Given the description of an element on the screen output the (x, y) to click on. 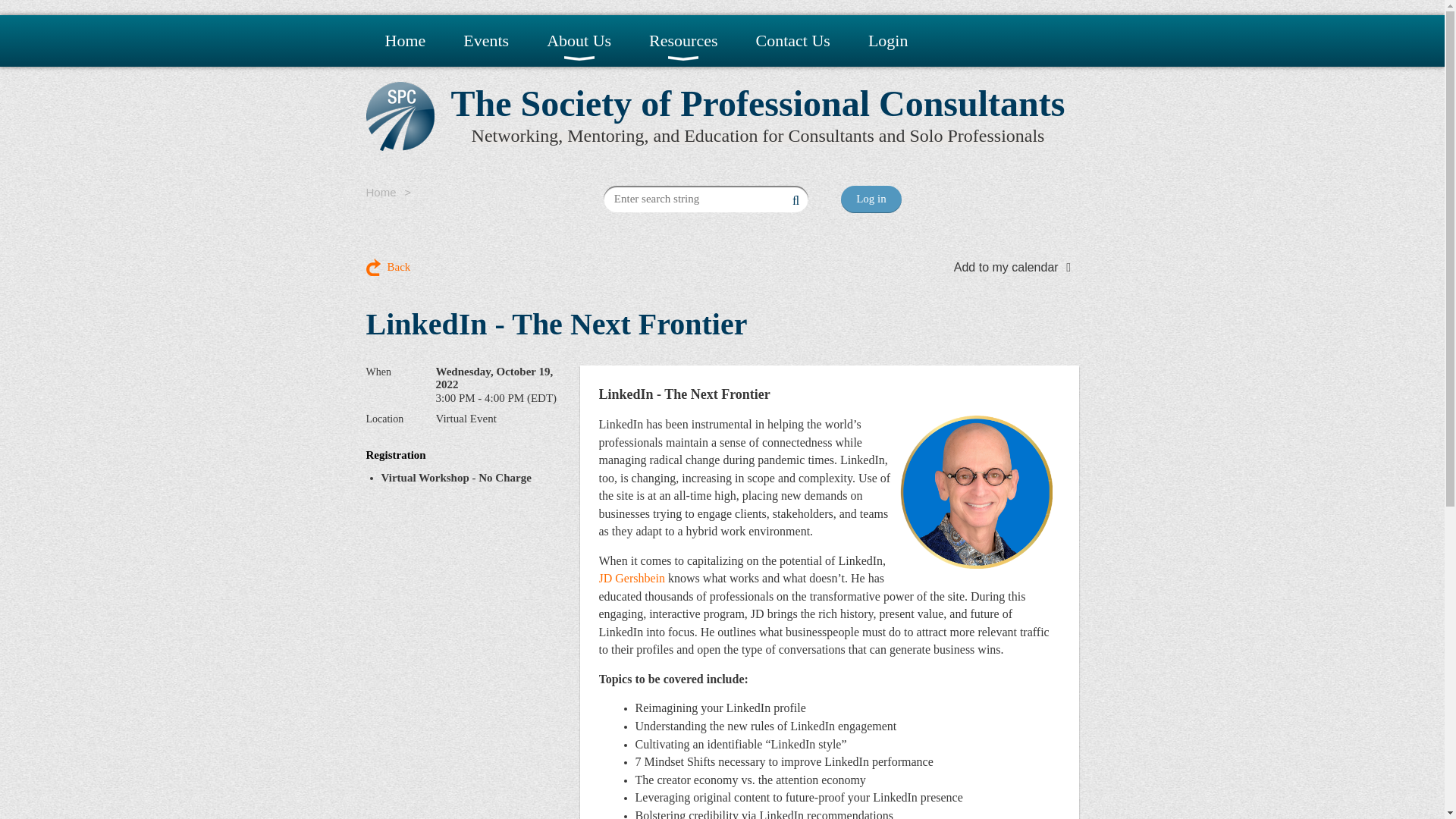
Login (887, 40)
Contact Us (792, 40)
Back (387, 267)
Resources (683, 40)
Home (404, 40)
Events (485, 40)
Events (485, 40)
JD Gershbein (631, 577)
Home (380, 192)
Log in (871, 198)
